Given the description of an element on the screen output the (x, y) to click on. 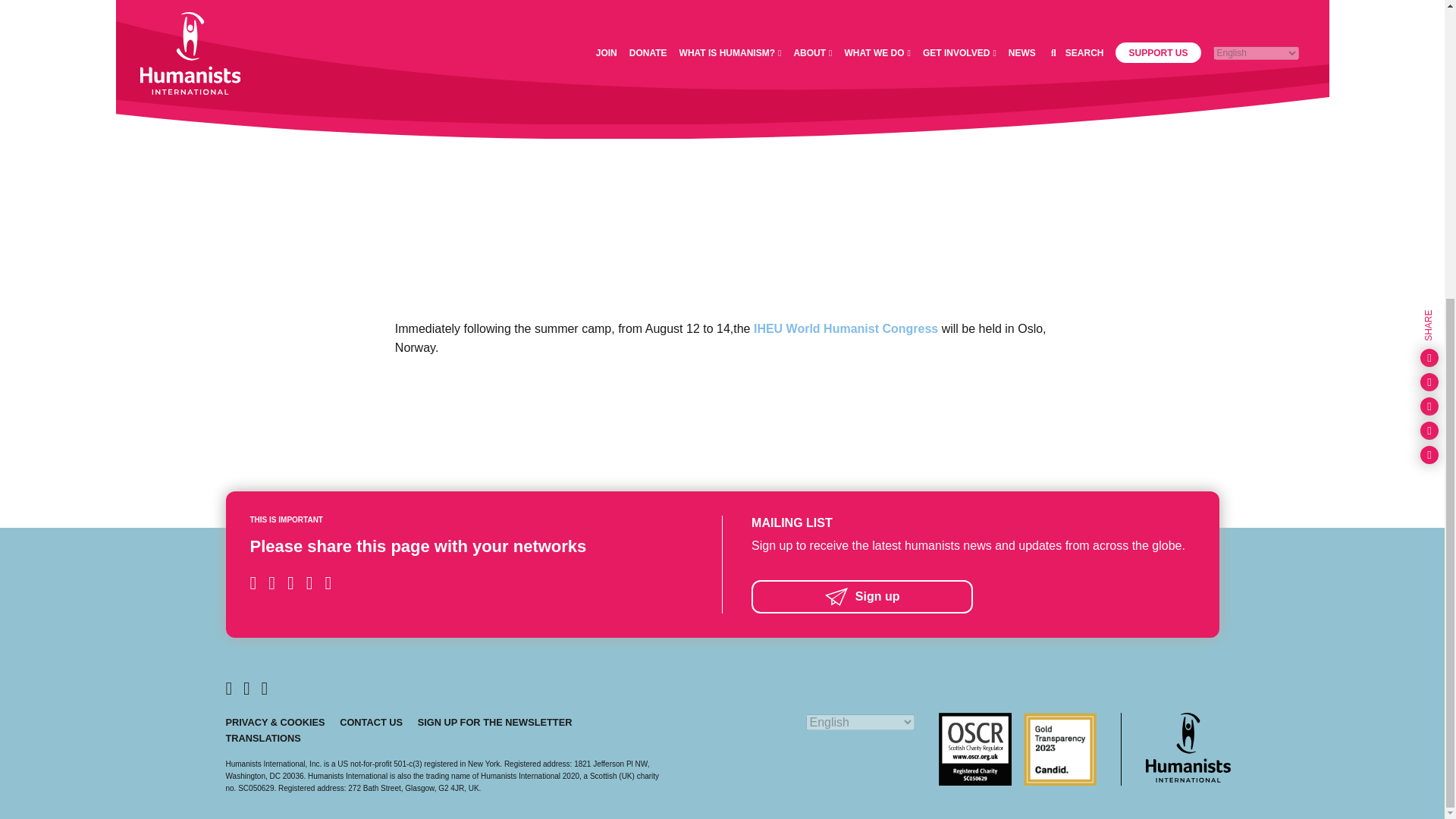
Sign up (972, 596)
Guidestar US (1059, 748)
Scottish Charity Regulator (975, 748)
Humanists Logo (1187, 747)
